Given the description of an element on the screen output the (x, y) to click on. 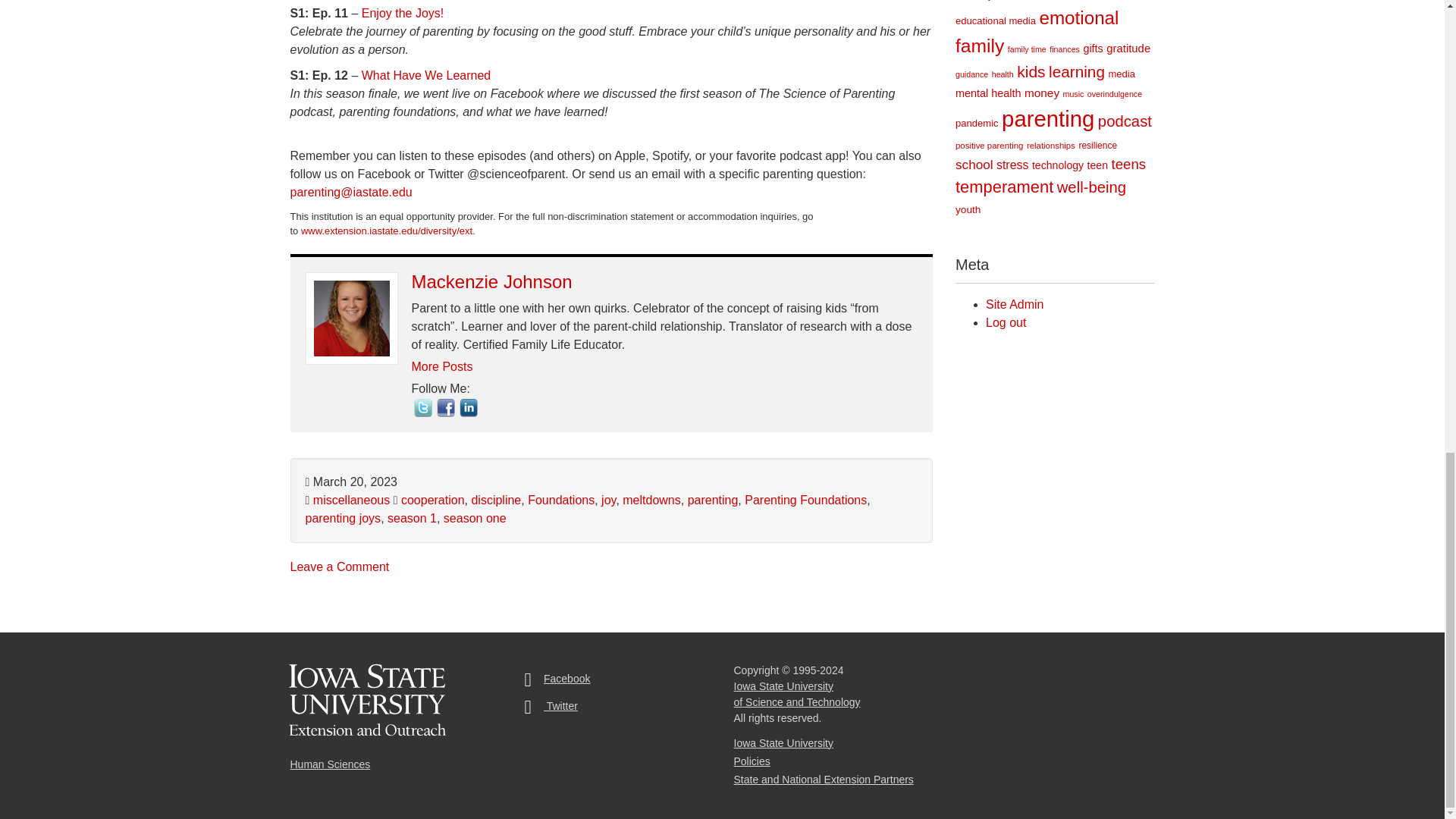
More posts by Mackenzie Johnson (440, 366)
Last Updated (350, 481)
Mackenzie Johnson (491, 281)
